Given the description of an element on the screen output the (x, y) to click on. 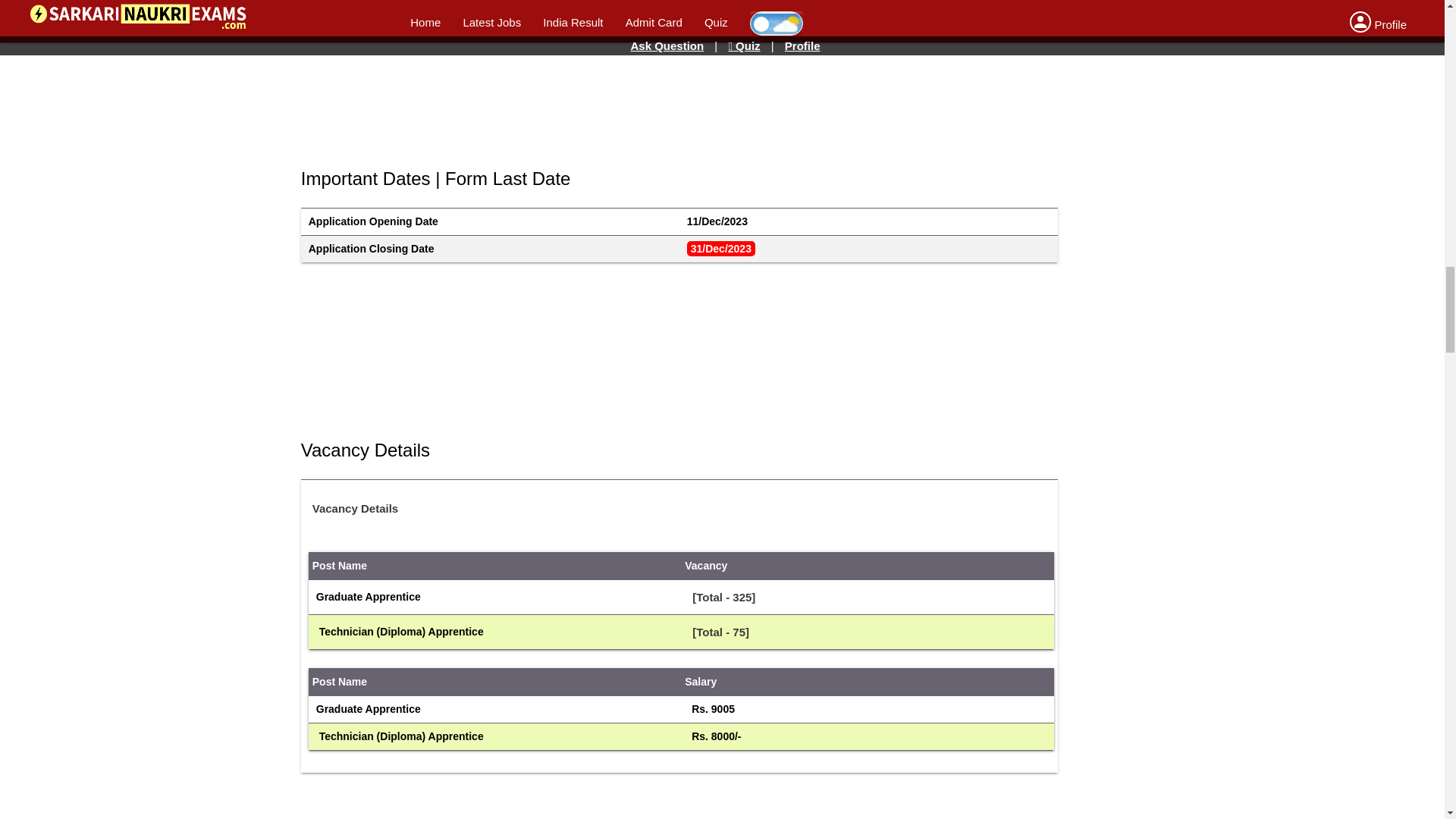
Advertisement (668, 74)
Advertisement (668, 799)
Advertisement (668, 345)
